Given the description of an element on the screen output the (x, y) to click on. 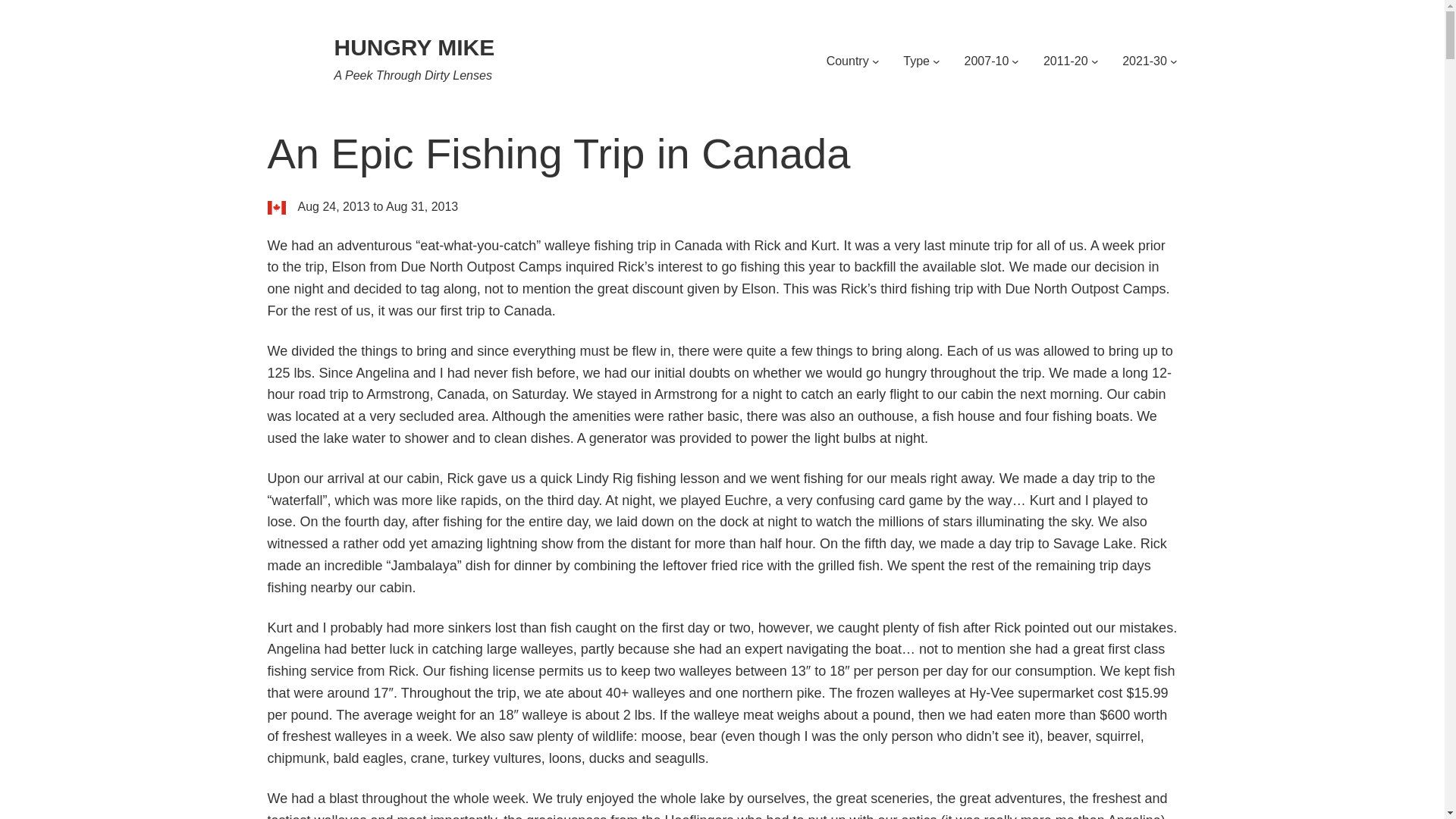
Type (916, 61)
2011-20 (1065, 61)
2007-10 (986, 61)
Country (848, 61)
HUNGRY MIKE (414, 47)
